Given the description of an element on the screen output the (x, y) to click on. 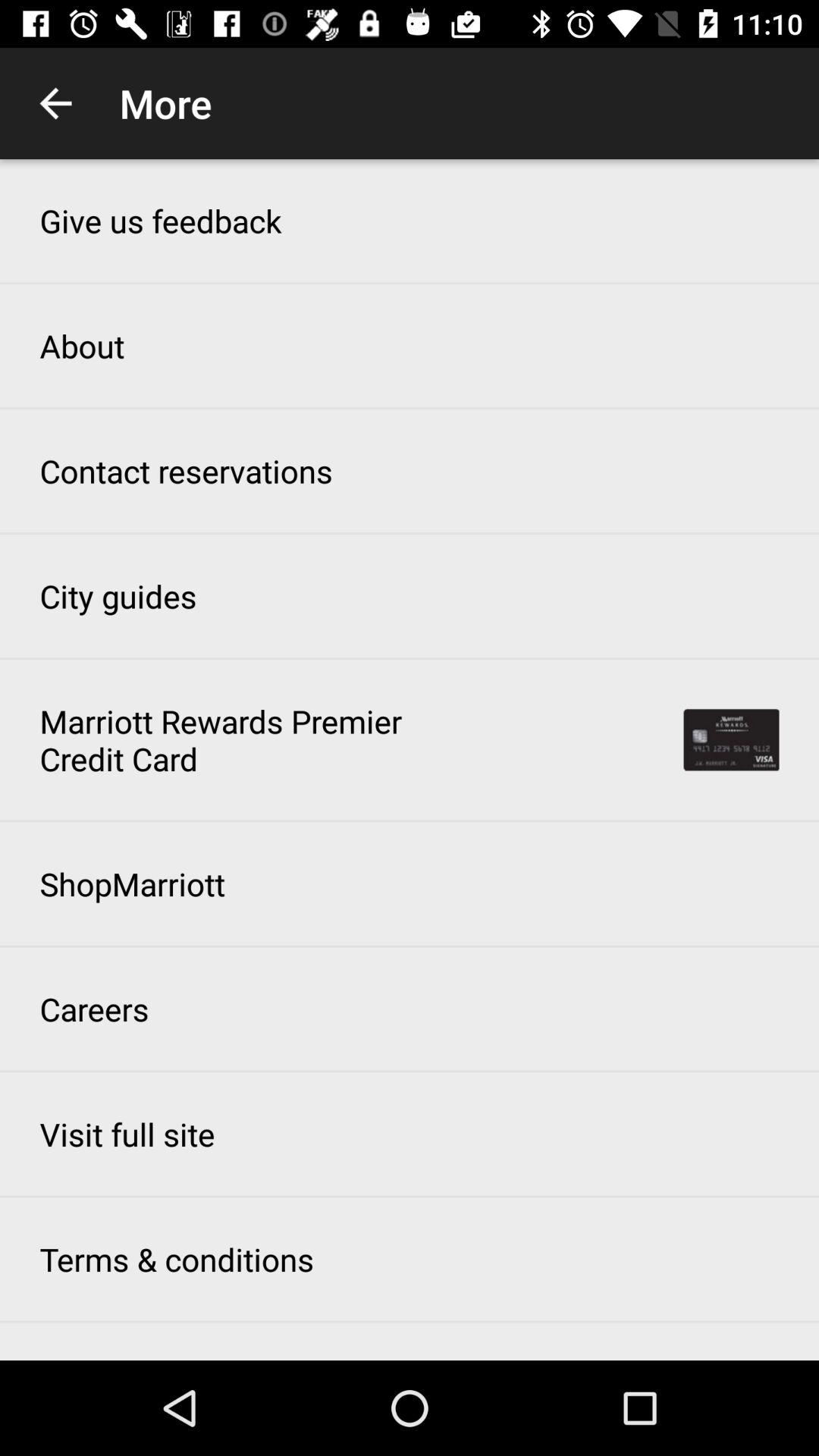
press the item above the give us feedback (55, 103)
